Given the description of an element on the screen output the (x, y) to click on. 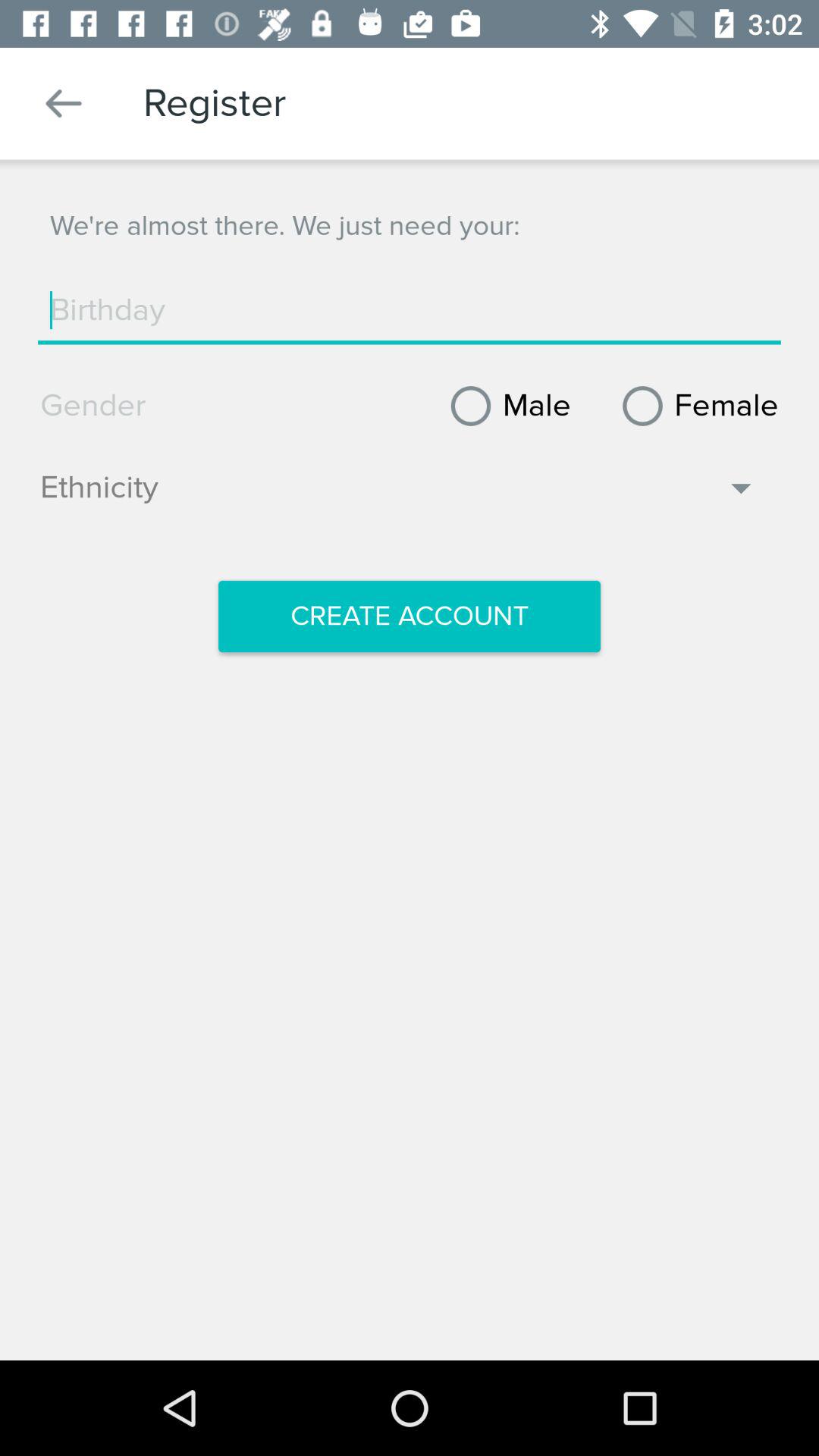
select female (694, 405)
